Given the description of an element on the screen output the (x, y) to click on. 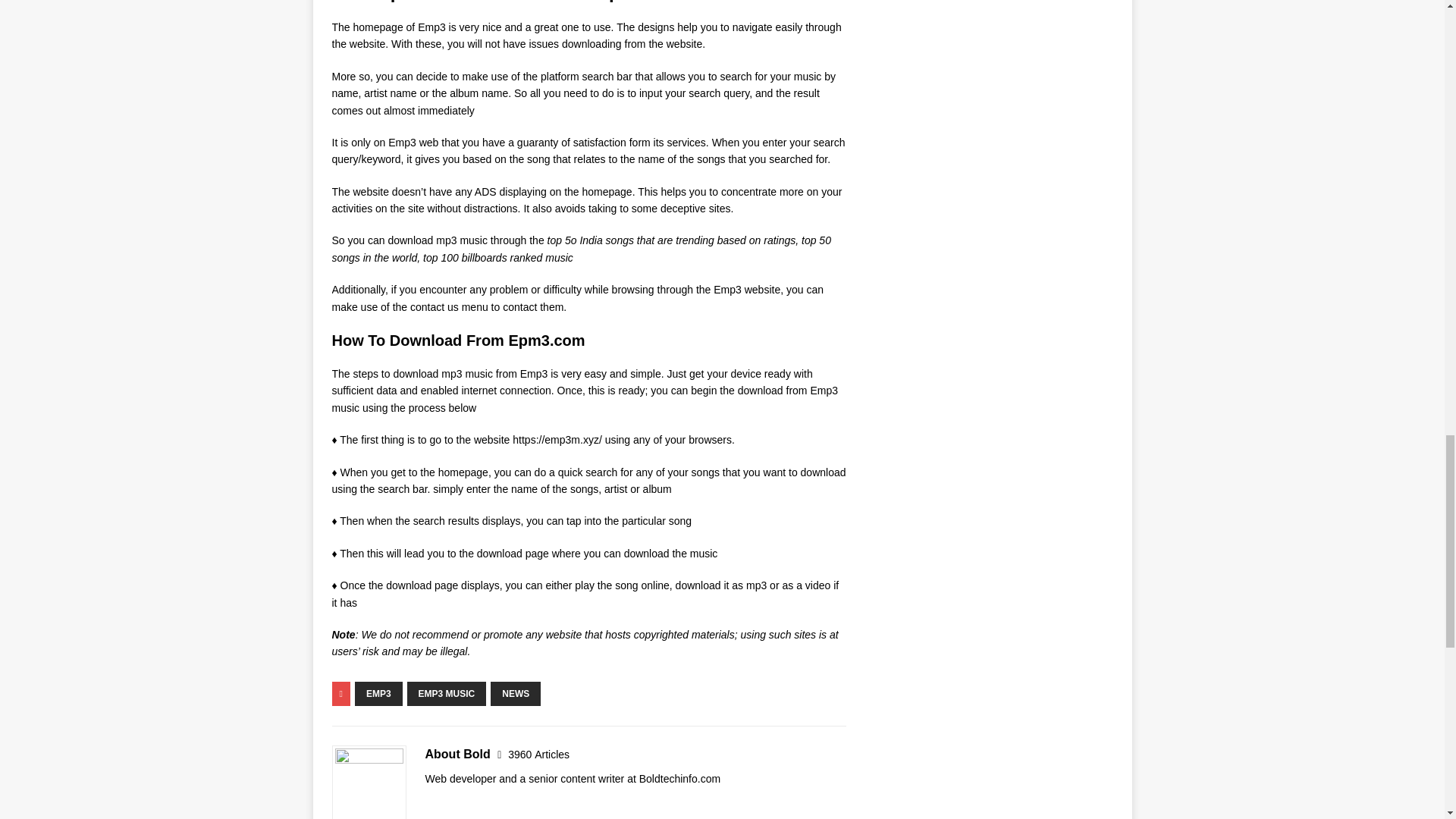
More articles written by Bold' (538, 754)
